Given the description of an element on the screen output the (x, y) to click on. 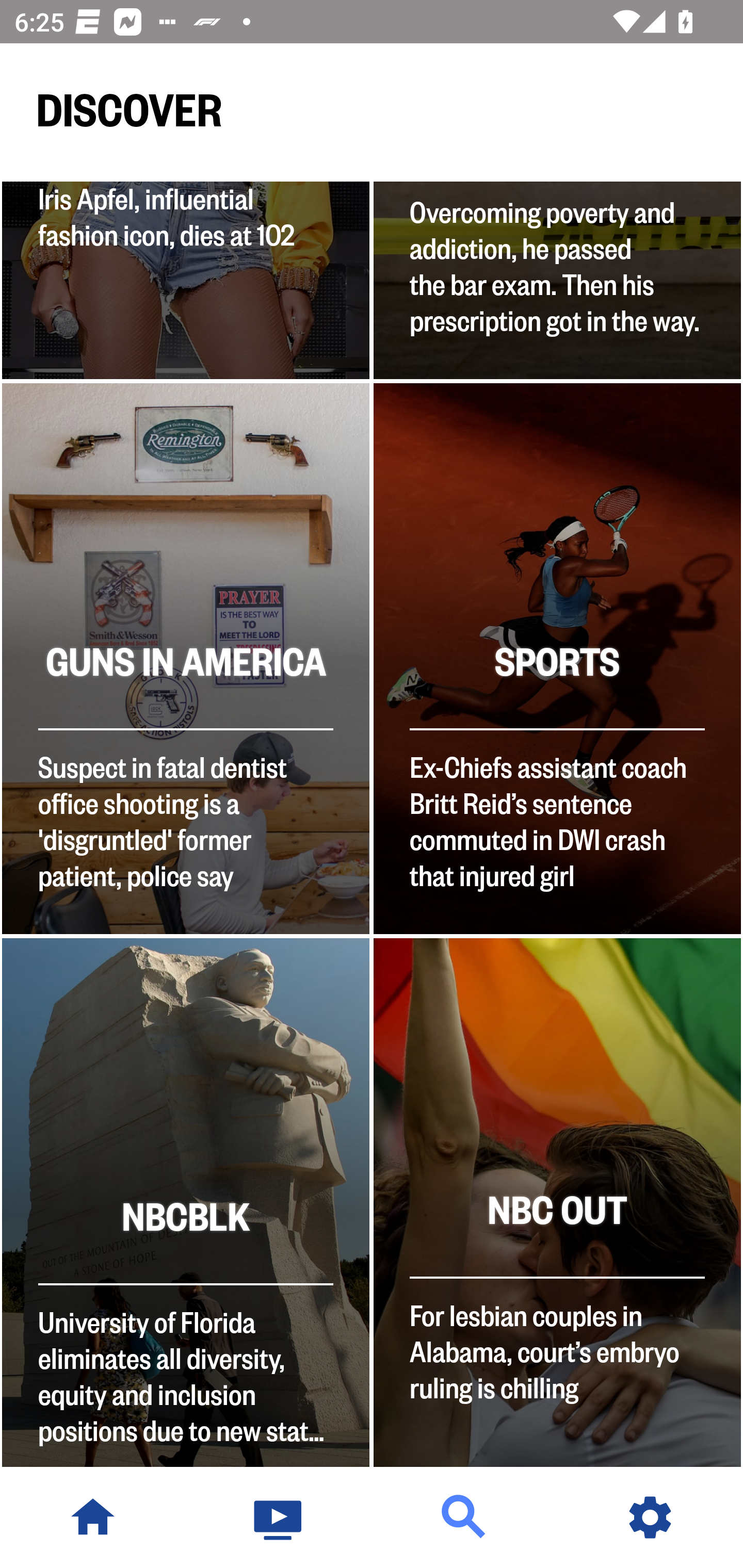
NBC News Home (92, 1517)
Watch (278, 1517)
Settings (650, 1517)
